Given the description of an element on the screen output the (x, y) to click on. 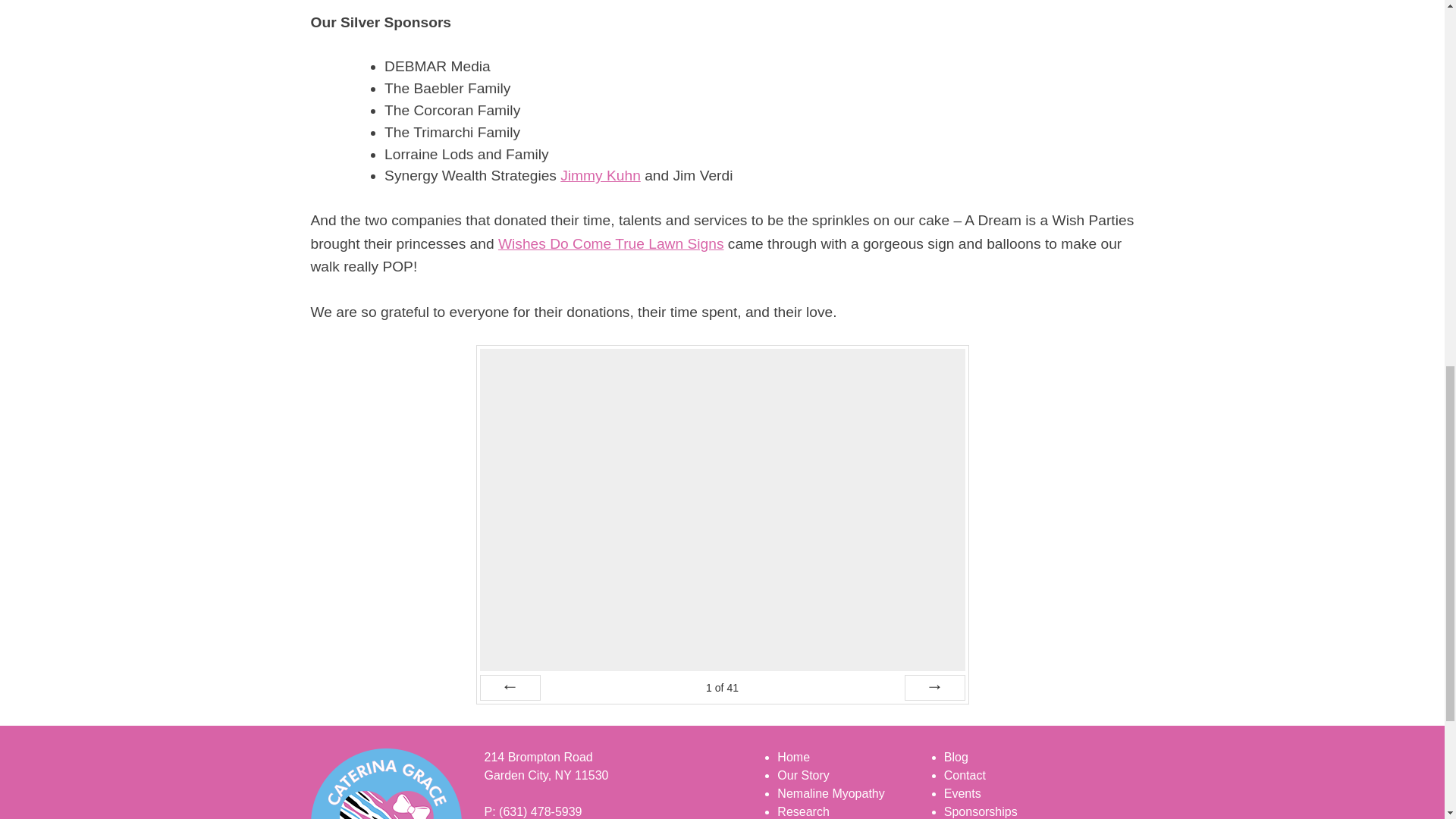
Jimmy Kuhn (600, 175)
Wishes Do Come True Lawn Signs (610, 243)
